Given the description of an element on the screen output the (x, y) to click on. 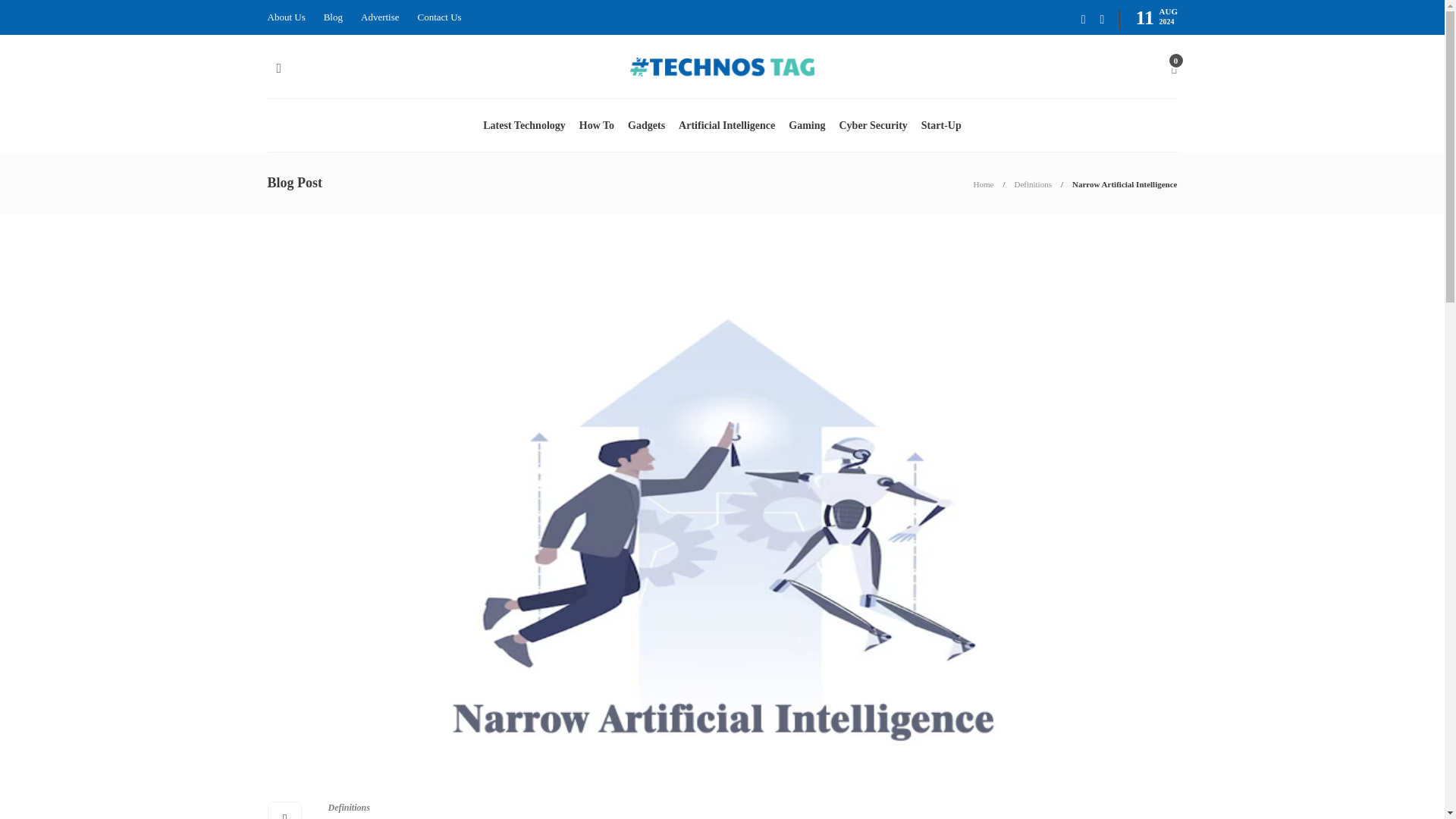
Advertise (379, 17)
Latest Technology (524, 125)
Cyber Security (872, 125)
Home (984, 184)
Contact Us (439, 17)
About Us (285, 17)
Narrow Artificial Intelligence (1123, 184)
Home (984, 184)
Definitions (1032, 184)
Artificial Intelligence (726, 125)
